Given the description of an element on the screen output the (x, y) to click on. 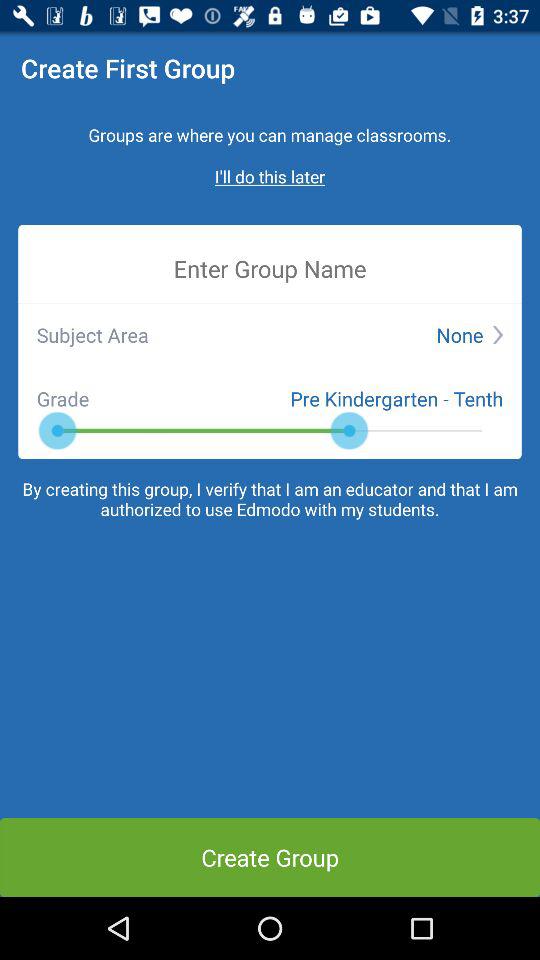
group name field (269, 268)
